Given the description of an element on the screen output the (x, y) to click on. 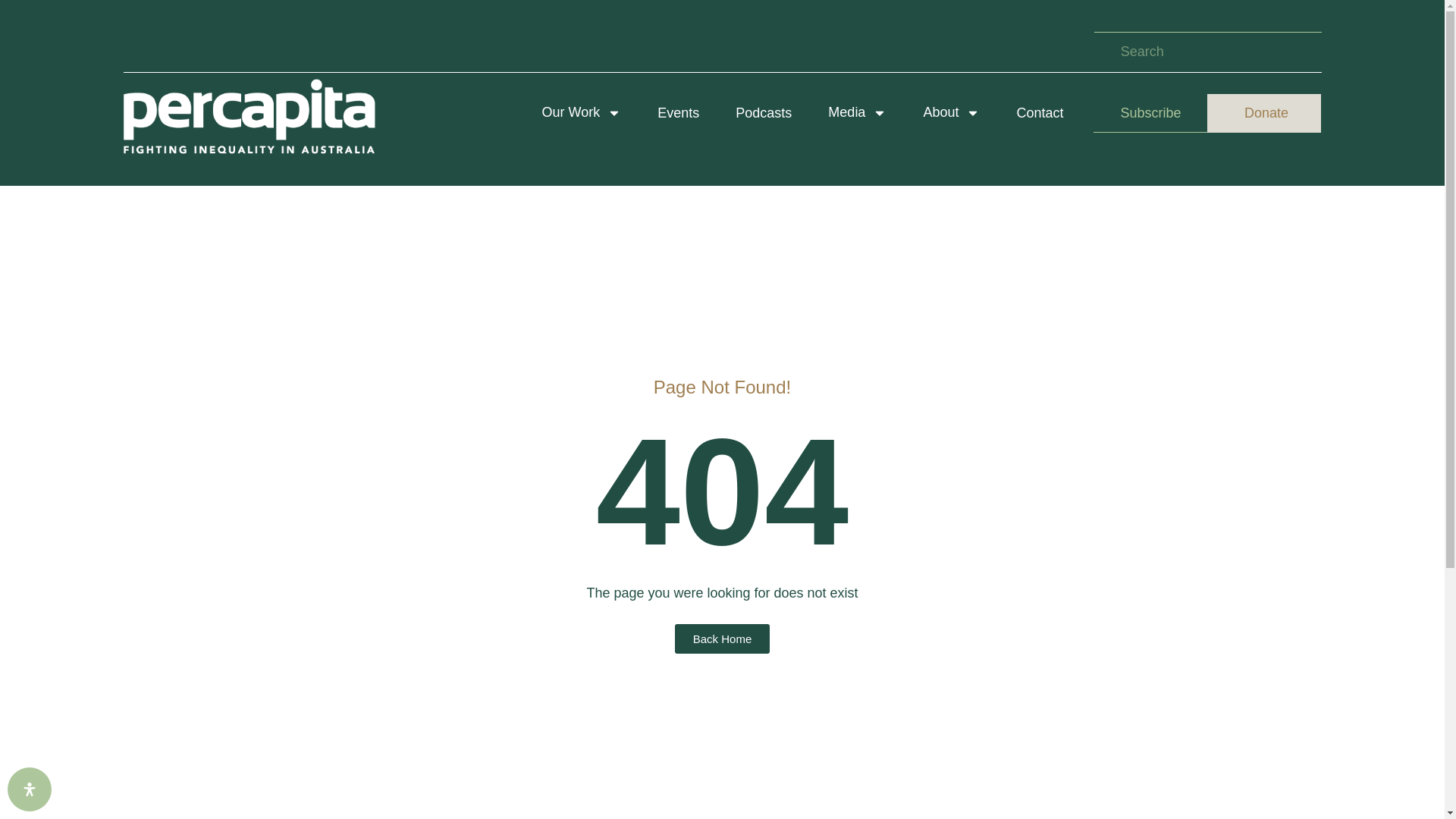
Podcasts (763, 113)
 Donate (1263, 113)
Events (678, 113)
Accessibility (28, 789)
Contact (1039, 113)
Subscribe (1150, 113)
Our Work (582, 113)
About (950, 113)
Media (856, 113)
